Given the description of an element on the screen output the (x, y) to click on. 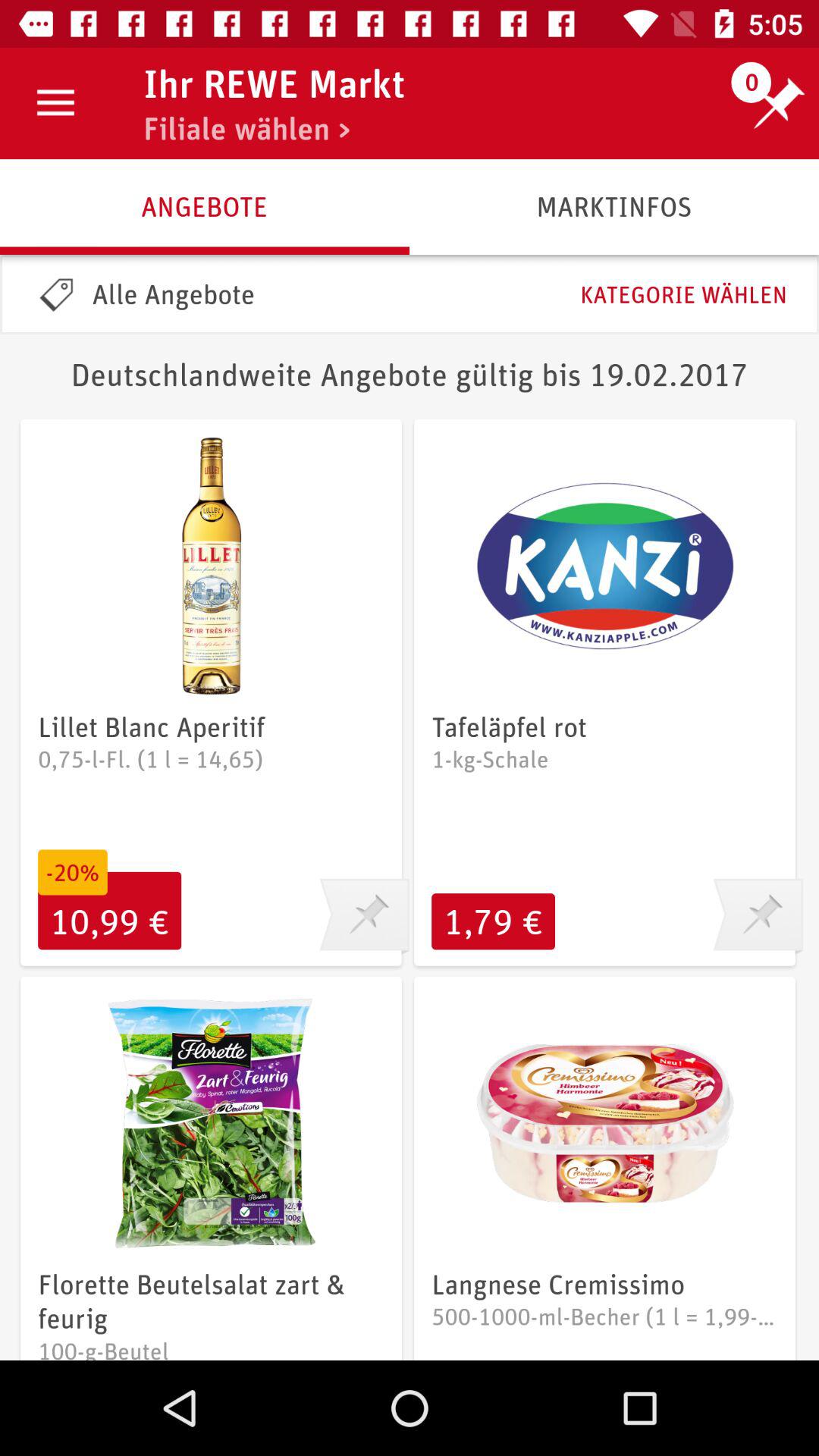
open the icon next to ihr rewe markt (55, 103)
